Given the description of an element on the screen output the (x, y) to click on. 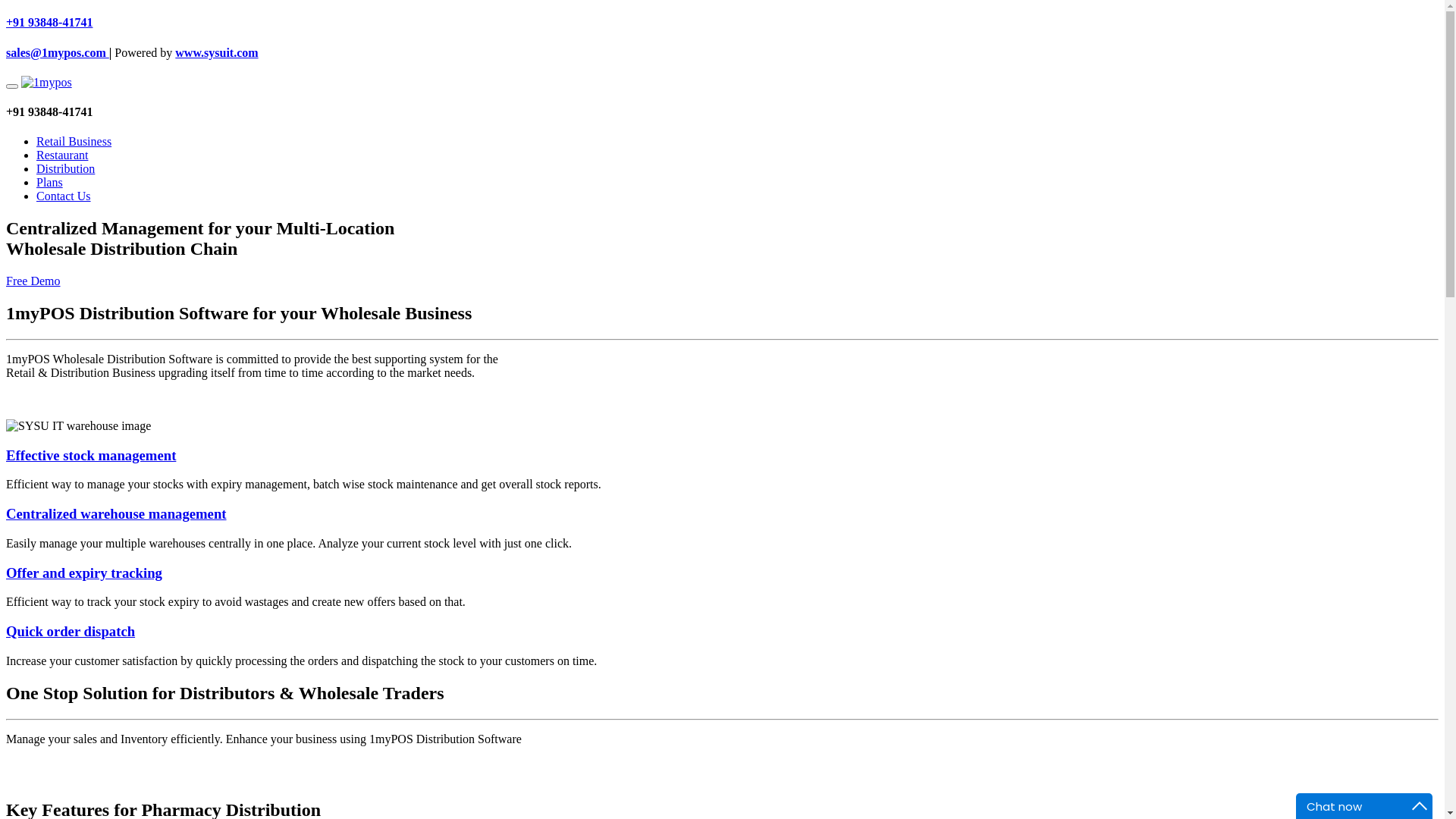
Quick order dispatch Element type: text (70, 631)
Distribution Element type: text (65, 168)
www.sysuit.com Element type: text (216, 52)
Centralized warehouse management Element type: text (116, 513)
Maximize Element type: hover (1419, 806)
sales@1mypos.com Element type: text (57, 52)
Restaurant Element type: text (61, 154)
Plans Element type: text (49, 181)
Offer and expiry tracking Element type: text (84, 572)
+91 93848-41741 Element type: text (49, 21)
Contact Us Element type: text (63, 195)
Free Demo Element type: text (33, 280)
Retail Business Element type: text (73, 140)
Effective stock management Element type: text (90, 455)
